Given the description of an element on the screen output the (x, y) to click on. 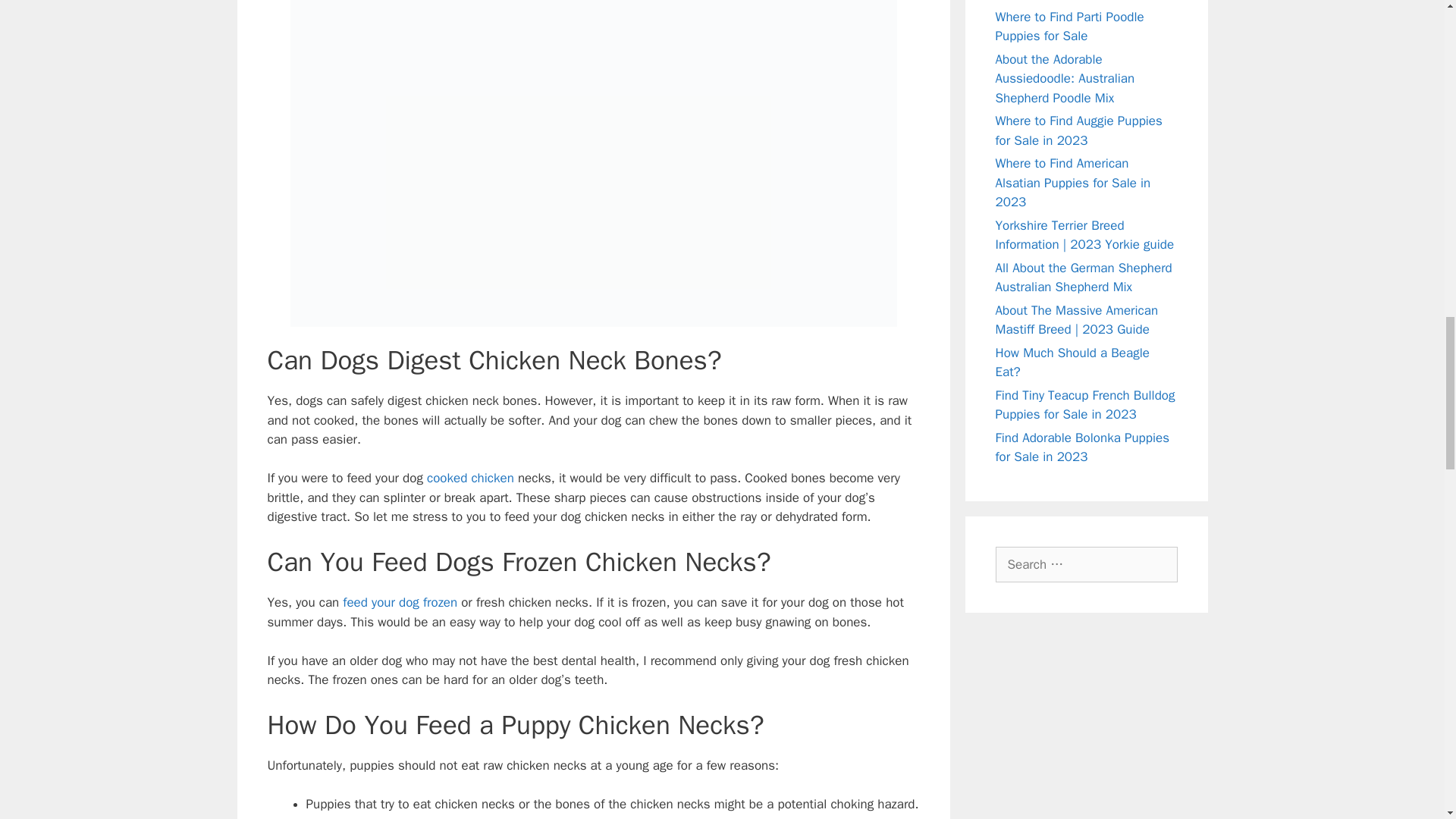
Search for: (1085, 565)
Where to Find Auggie Puppies for Sale in 2023 (1077, 130)
cooked chicken (469, 478)
feed your dog frozen (399, 602)
All About the German Shepherd Australian Shepherd Mix (1083, 277)
Where to Find American Alsatian Puppies for Sale in 2023 (1072, 182)
Where to Find Parti Poodle Puppies for Sale (1068, 27)
